Given the description of an element on the screen output the (x, y) to click on. 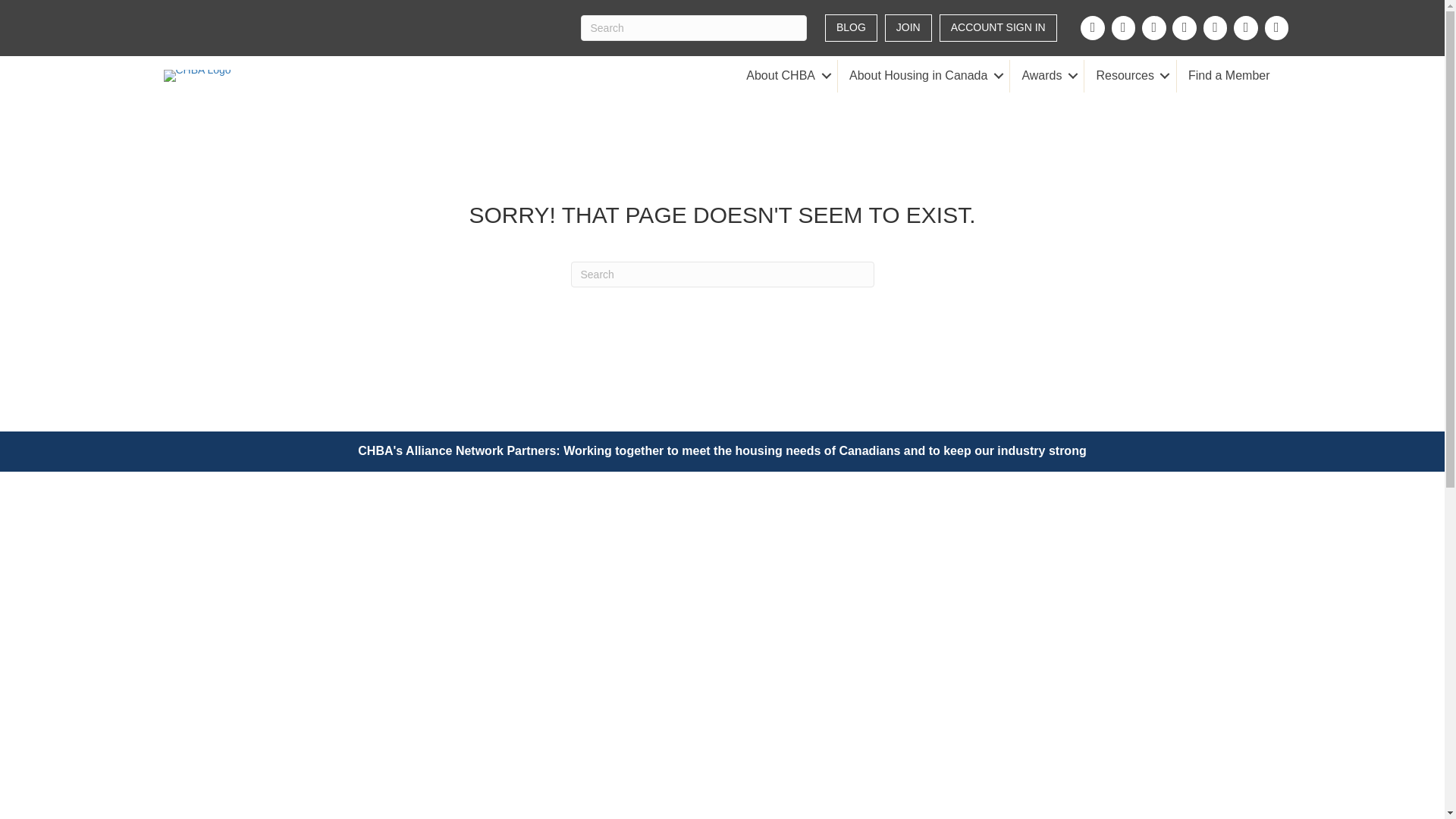
About Housing in Canada (923, 75)
BLOG (851, 27)
ACCOUNT SIGN IN (998, 27)
CHBALogo (197, 75)
Type and press Enter to search. (721, 274)
Type and press Enter to search. (693, 27)
About CHBA (786, 75)
JOIN (908, 27)
